Given the description of an element on the screen output the (x, y) to click on. 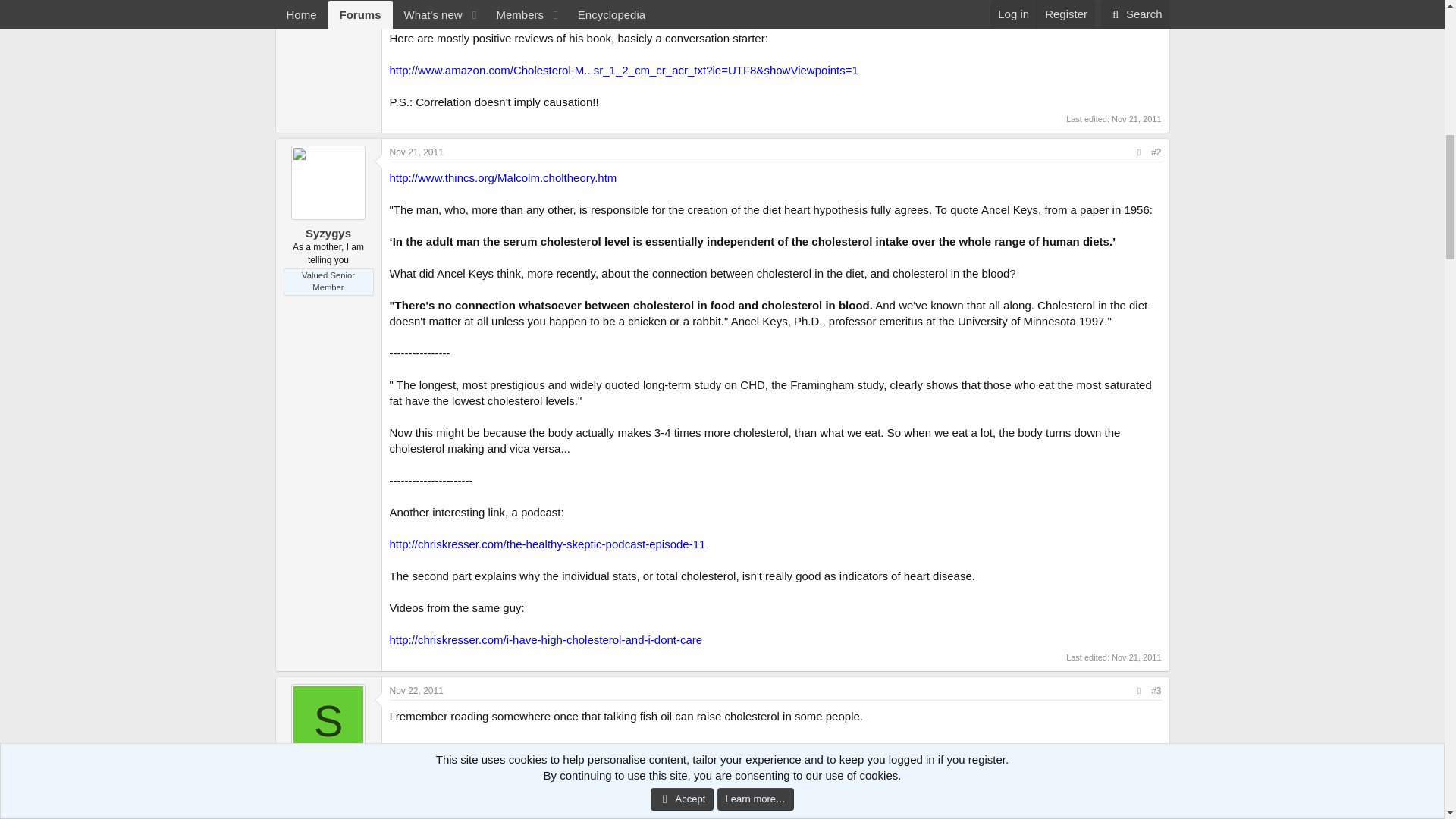
Nov 21, 2011 at 7:18 PM (417, 152)
Nov 21, 2011 at 7:05 PM (1136, 118)
Nov 22, 2011 at 1:24 AM (417, 690)
Nov 21, 2011 at 7:38 PM (1136, 656)
